Given the description of an element on the screen output the (x, y) to click on. 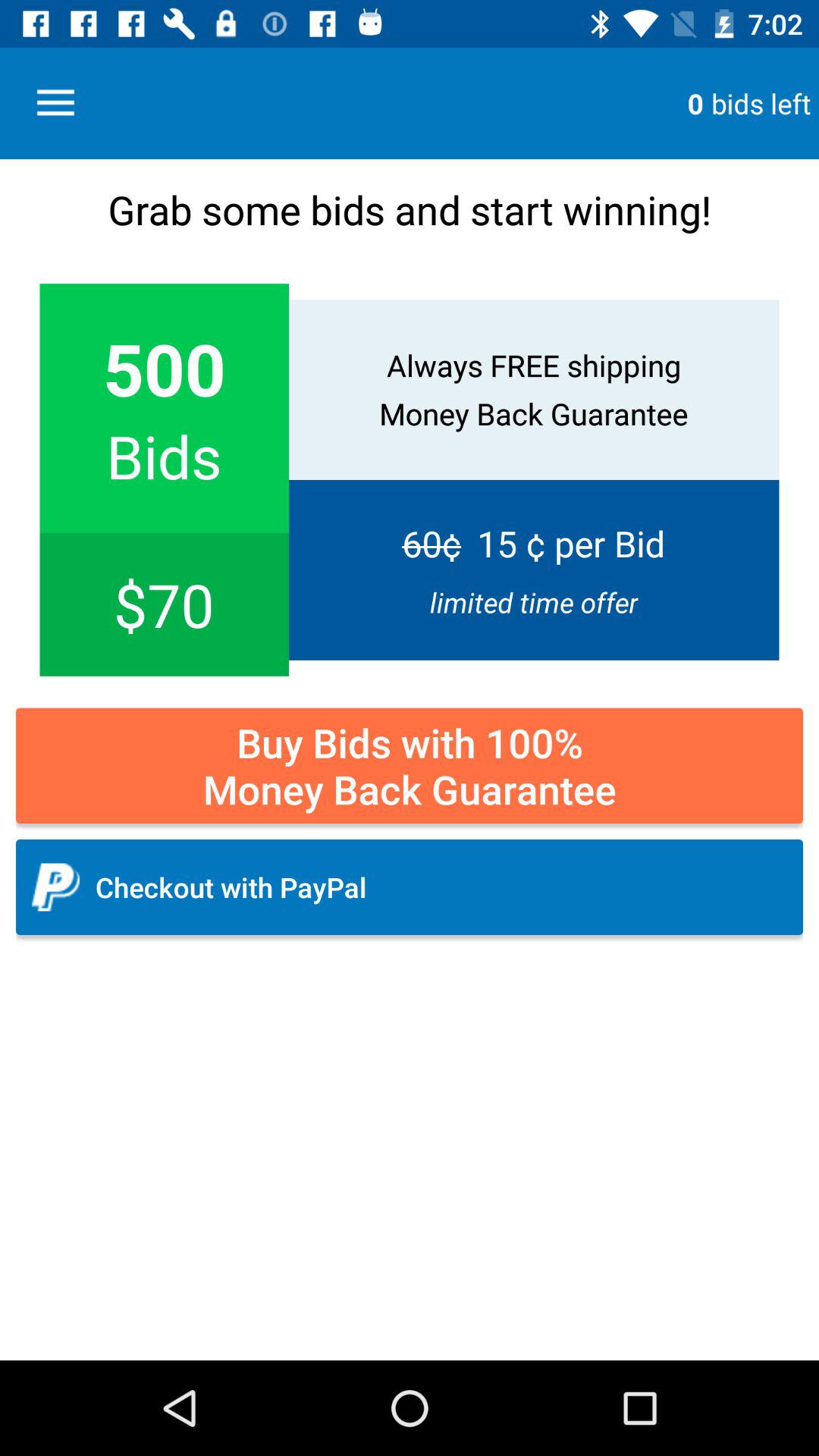
open the icon to the left of the 0 icon (55, 103)
